Given the description of an element on the screen output the (x, y) to click on. 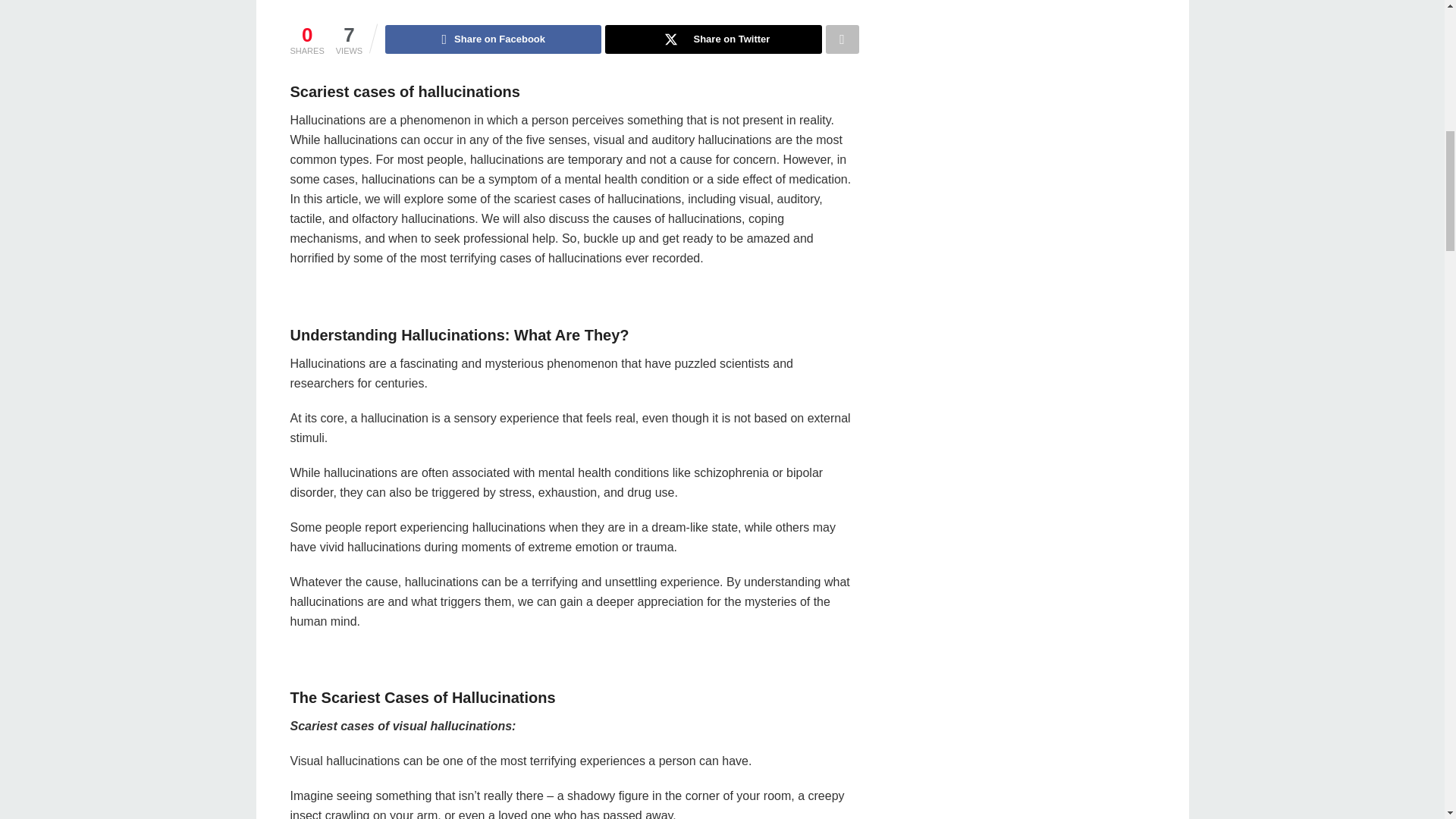
Share on Twitter (713, 39)
Share on Facebook (493, 39)
